Given the description of an element on the screen output the (x, y) to click on. 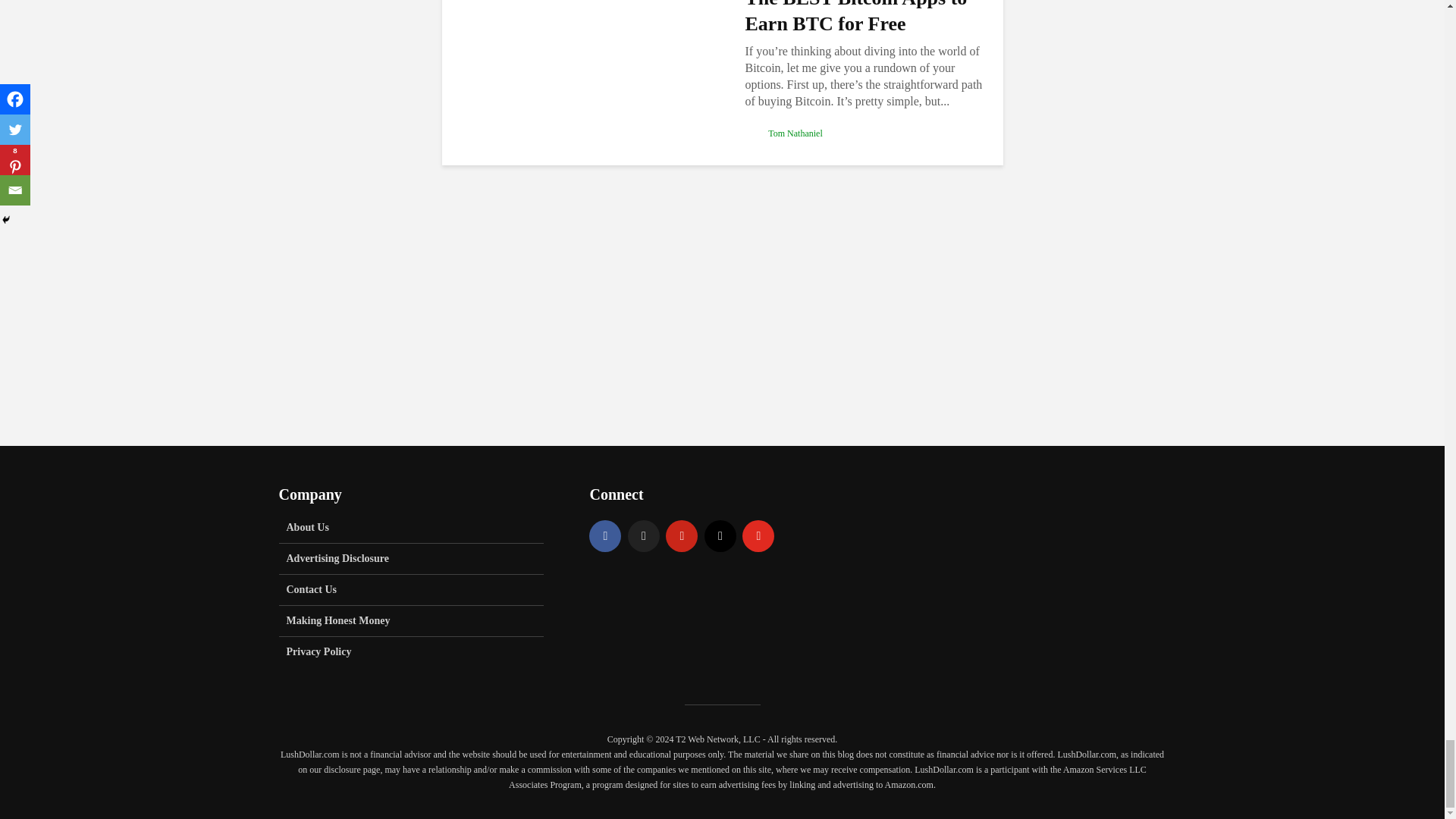
Pinterest (681, 536)
YouTube (758, 536)
The BEST Bitcoin Apps to Earn BTC for Free (581, 49)
Facebook (605, 536)
Instagram (720, 536)
